Given the description of an element on the screen output the (x, y) to click on. 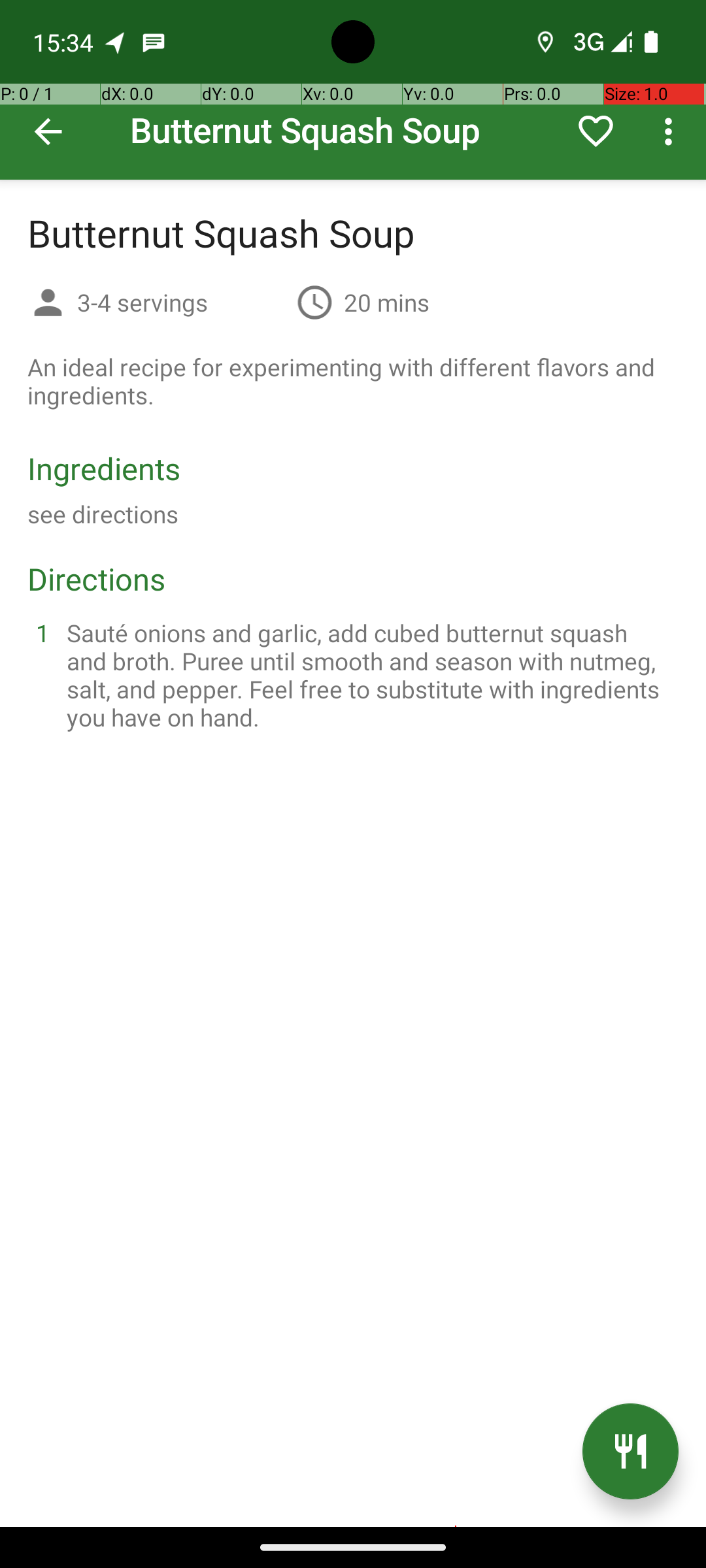
Butternut Squash Soup Element type: android.widget.FrameLayout (353, 89)
3-4 servings Element type: android.widget.TextView (181, 301)
20 mins Element type: android.widget.TextView (386, 301)
see directions Element type: android.widget.TextView (102, 513)
Sauté onions and garlic, add cubed butternut squash and broth. Puree until smooth and season with nutmeg, salt, and pepper. Feel free to substitute with ingredients you have on hand. Element type: android.widget.TextView (368, 674)
